Given the description of an element on the screen output the (x, y) to click on. 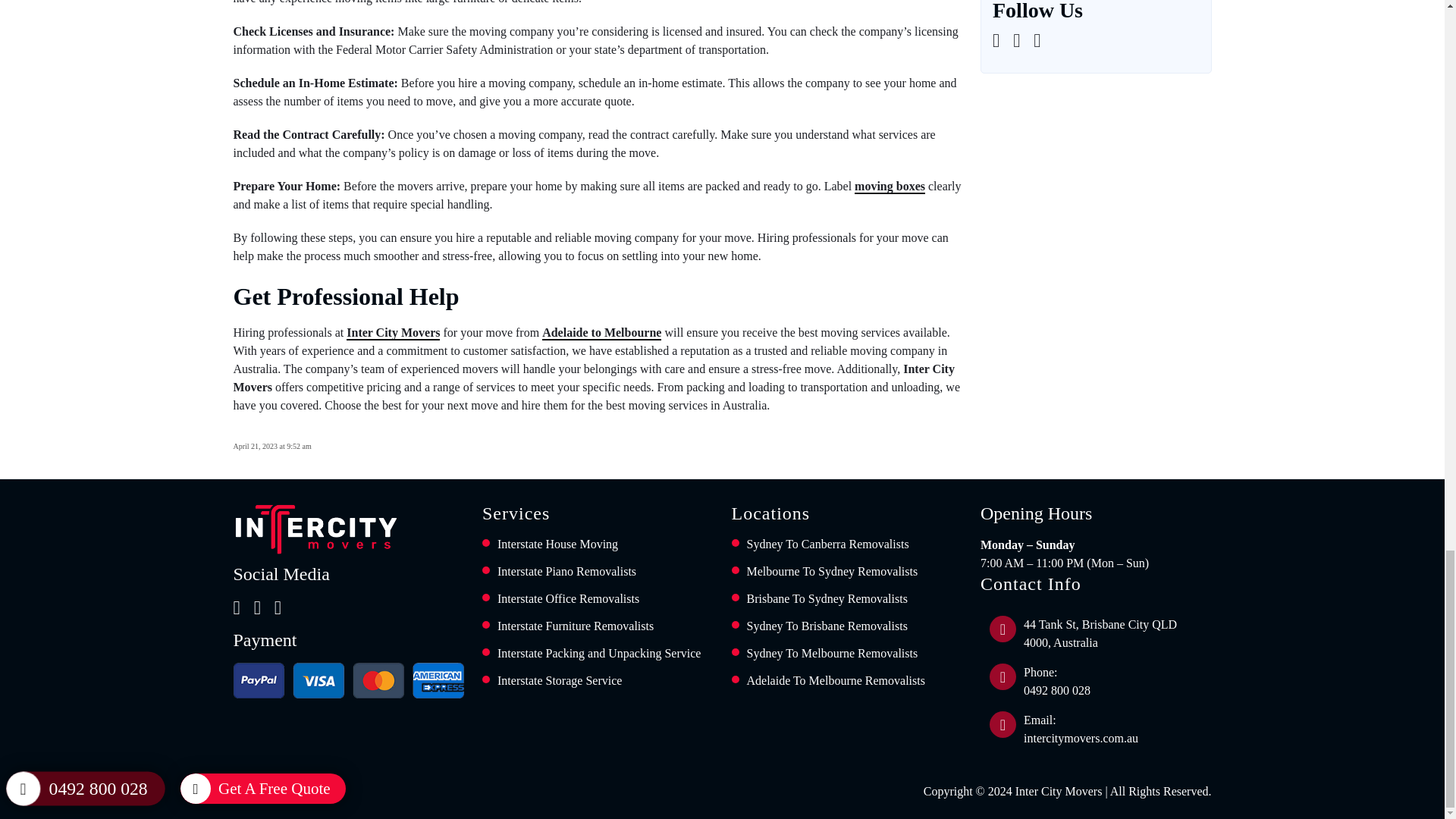
Inter City Movers (392, 332)
Adelaide to Melbourne (601, 332)
moving boxes (889, 186)
